Given the description of an element on the screen output the (x, y) to click on. 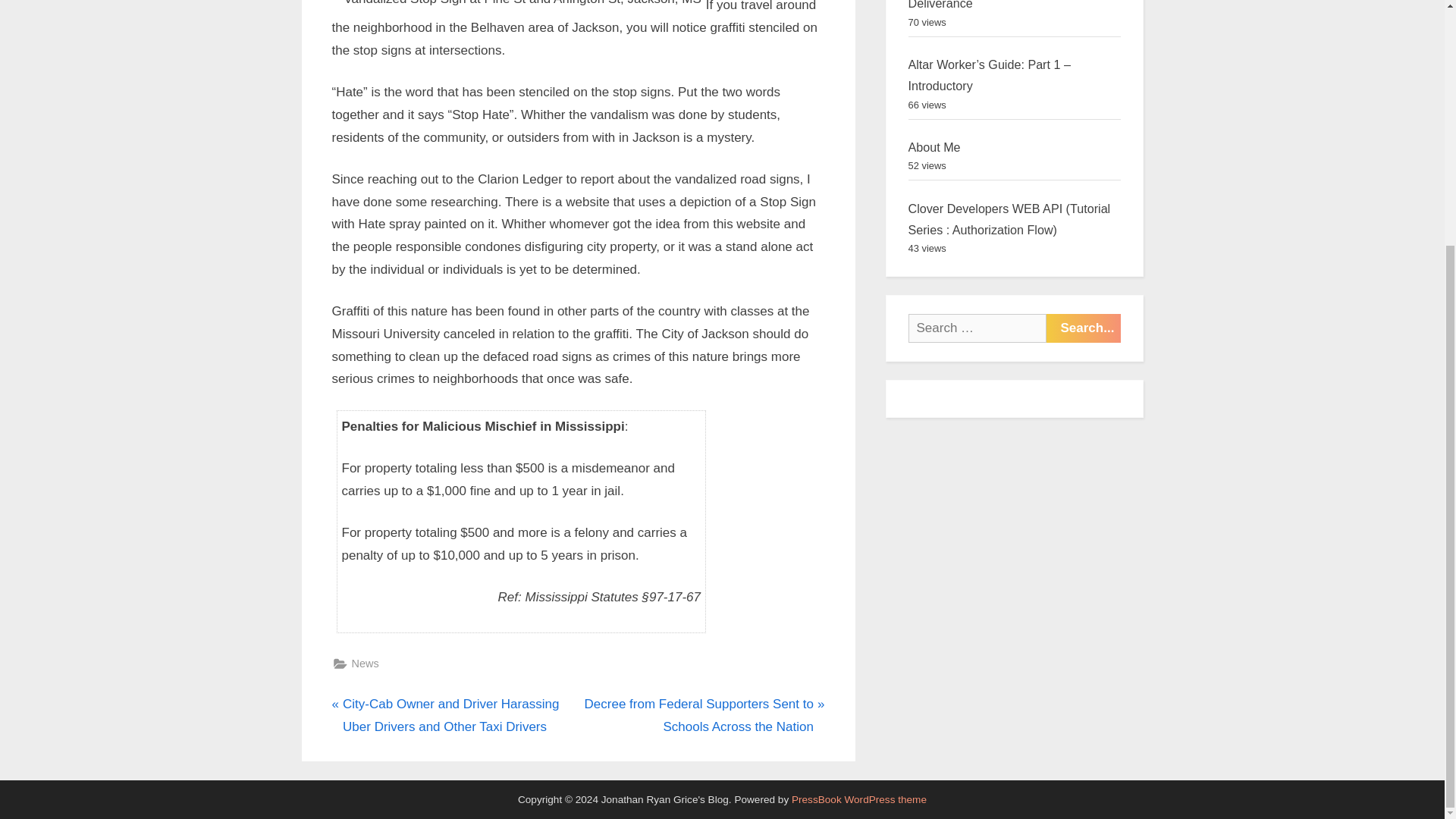
Search... (1083, 328)
News (365, 663)
Search... (1083, 328)
PressBook WordPress theme (859, 799)
About Me (934, 146)
Search... (1083, 328)
